Given the description of an element on the screen output the (x, y) to click on. 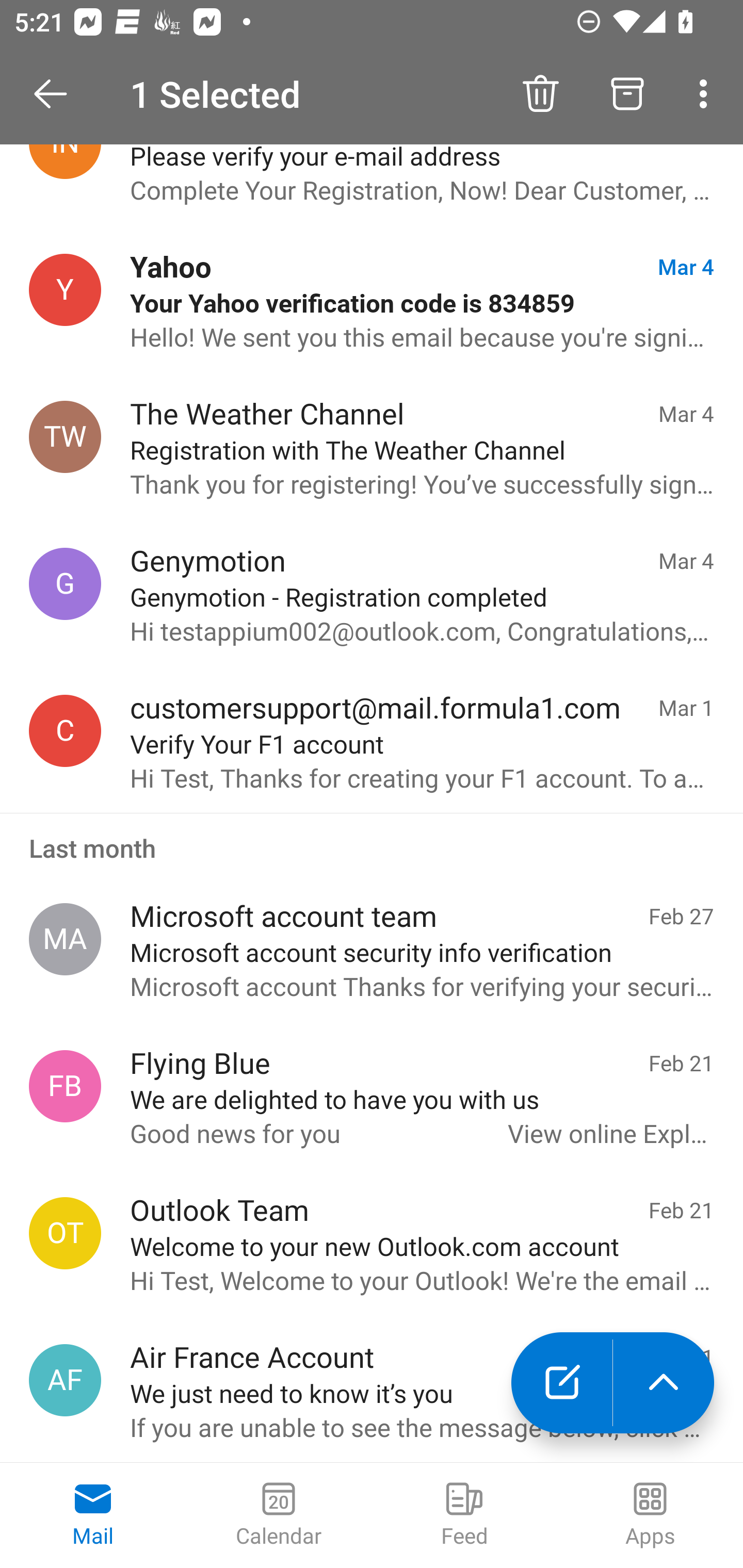
Delete (540, 93)
Archive (626, 93)
More options (706, 93)
Close Navigation Drawer (57, 94)
Yahoo, no-reply@cc.yahoo-inc.com (64, 290)
The Weather Channel, noreply@weather.com (64, 437)
Genymotion, genymotion-activation@genymobile.com (64, 583)
Flying Blue, do_not_reply@info-flyingblue.com (64, 1086)
Outlook Team, no-reply@microsoft.com (64, 1233)
New mail (561, 1382)
launch the extended action menu (663, 1382)
Air France Account, account@infos-airfrance.com (64, 1379)
Calendar (278, 1515)
Feed (464, 1515)
Apps (650, 1515)
